Given the description of an element on the screen output the (x, y) to click on. 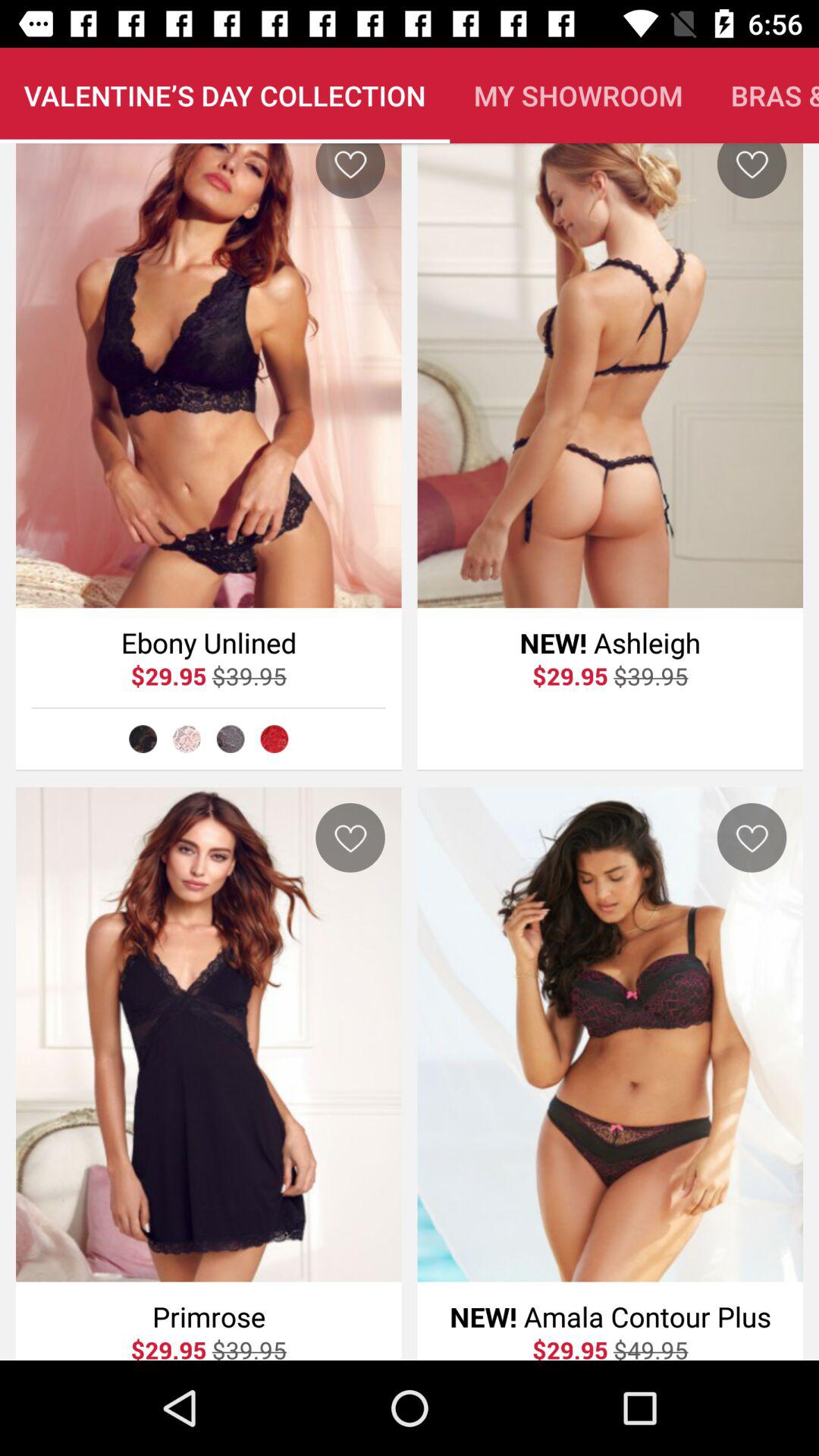
choose item below 29 95 39 item (230, 738)
